Given the description of an element on the screen output the (x, y) to click on. 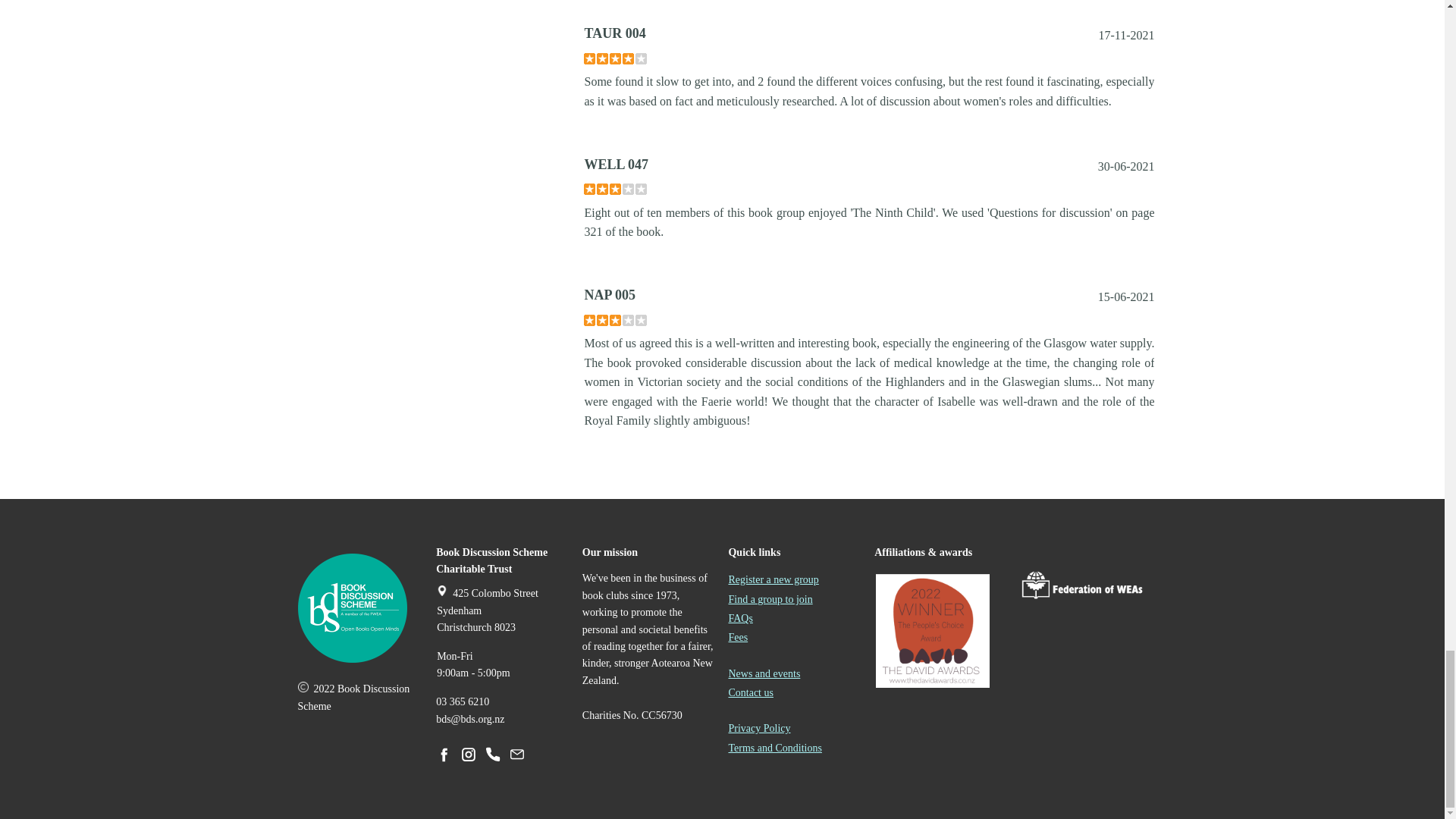
index.php (351, 607)
facebook (443, 754)
instagram (468, 754)
